Given the description of an element on the screen output the (x, y) to click on. 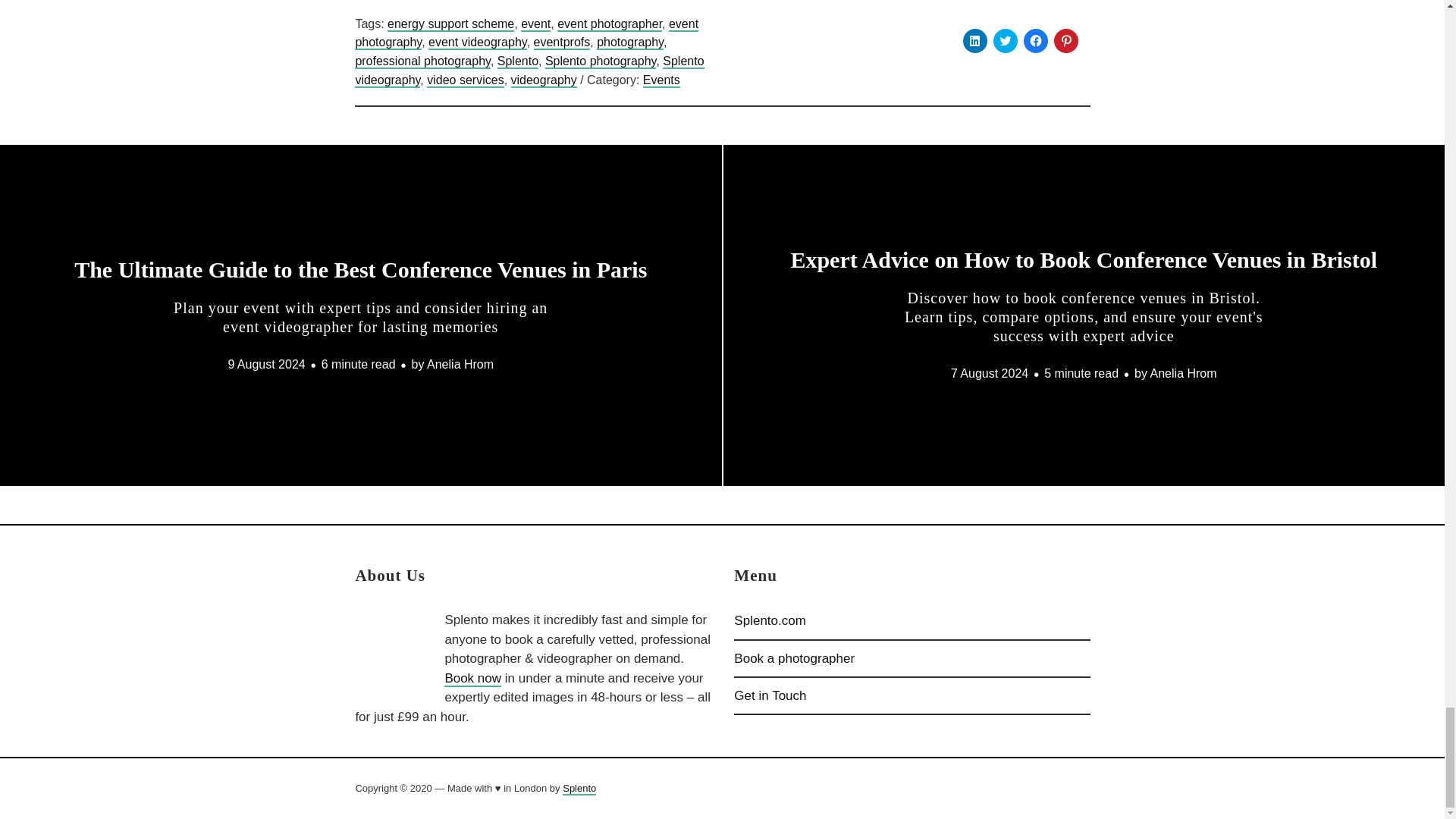
Click to share on Facebook (1035, 40)
Click to share on Pinterest (1066, 40)
Click to share on Twitter (1004, 40)
event (535, 24)
Click to share on LinkedIn (974, 40)
event photographer (609, 24)
energy support scheme (450, 24)
